Given the description of an element on the screen output the (x, y) to click on. 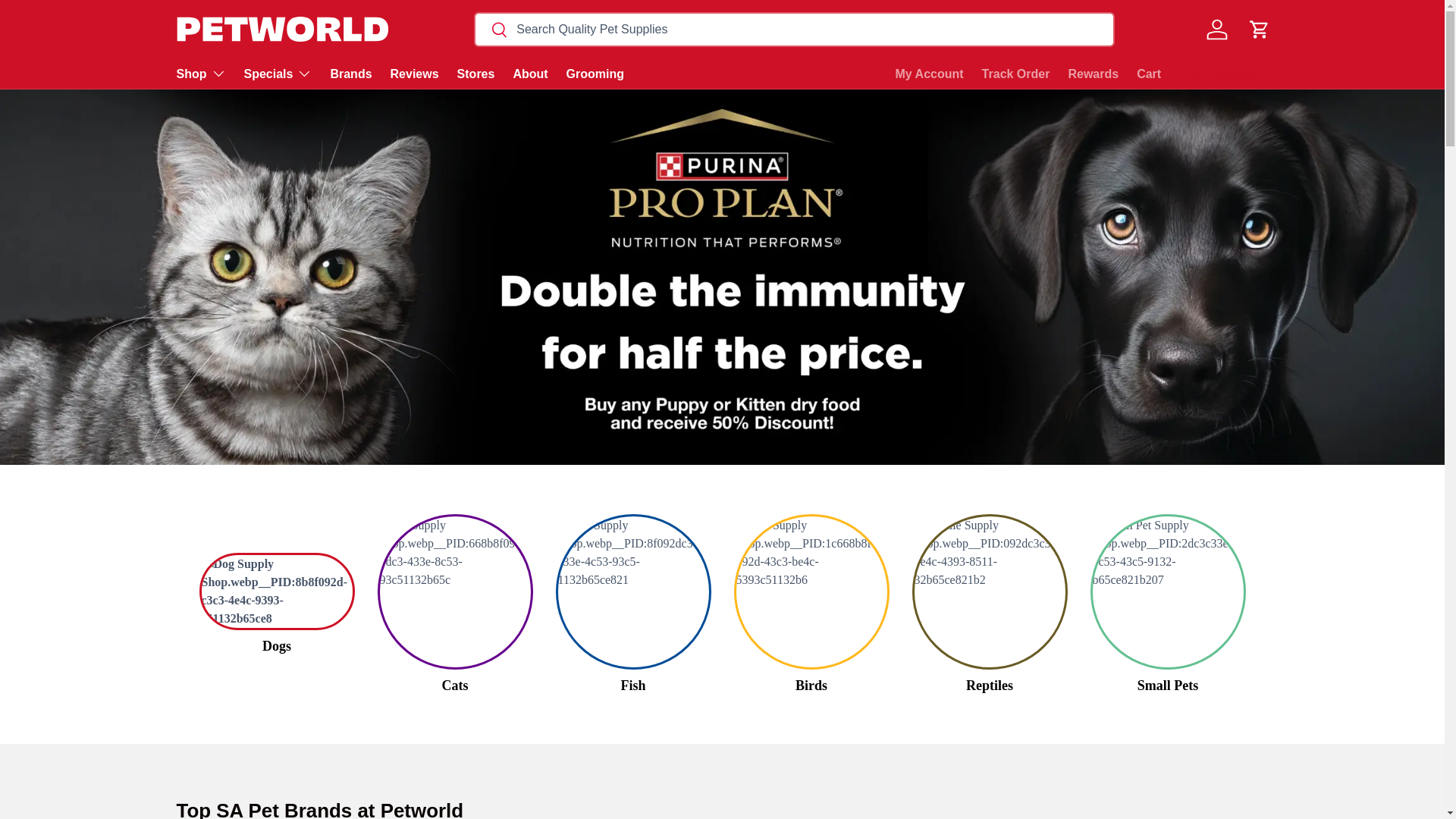
Shop (200, 73)
Log in (1216, 28)
Skip to content (68, 21)
Search (491, 30)
Cart (1258, 28)
